Given the description of an element on the screen output the (x, y) to click on. 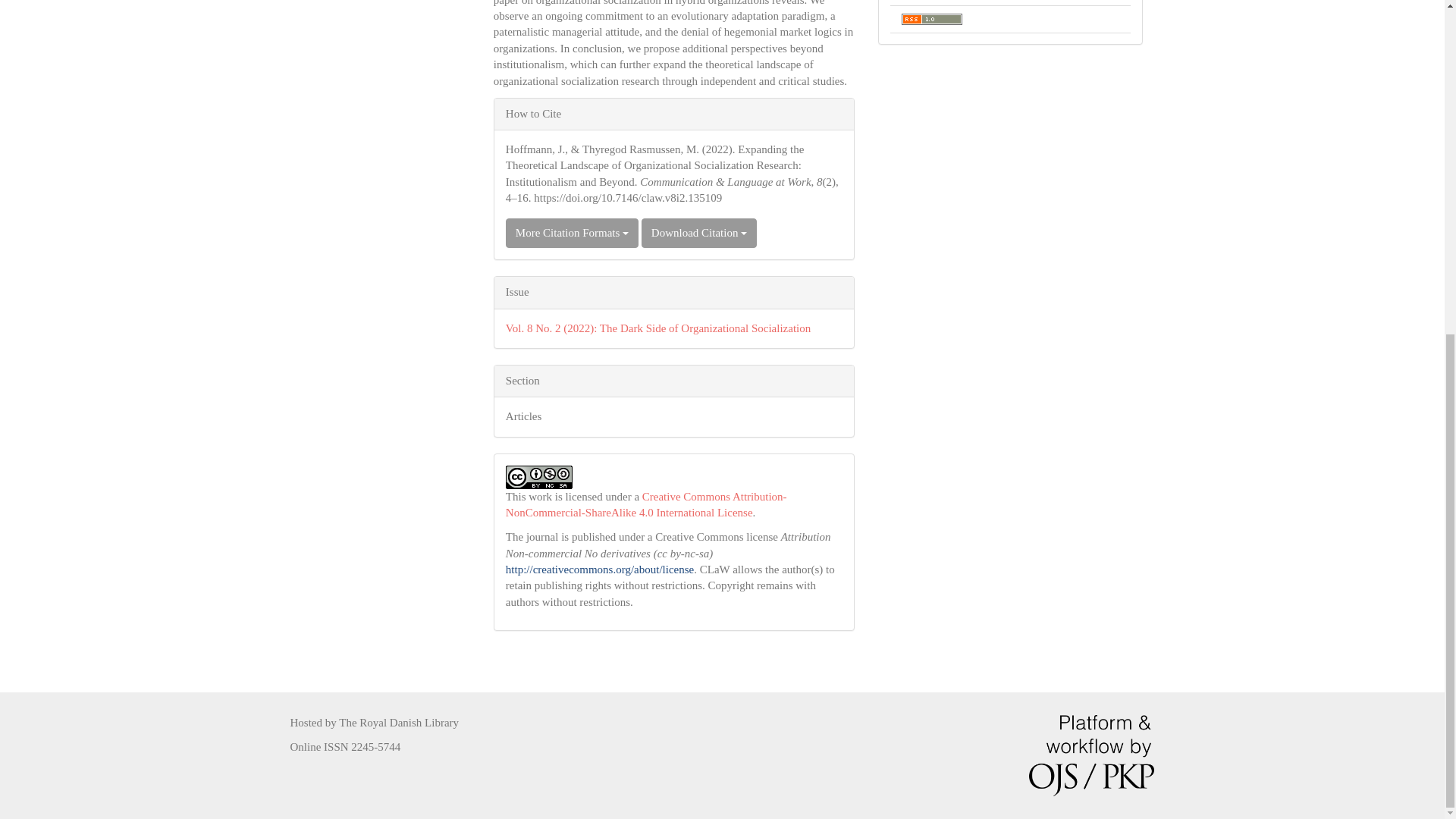
Download Citation (699, 233)
More Citation Formats (572, 233)
